Given the description of an element on the screen output the (x, y) to click on. 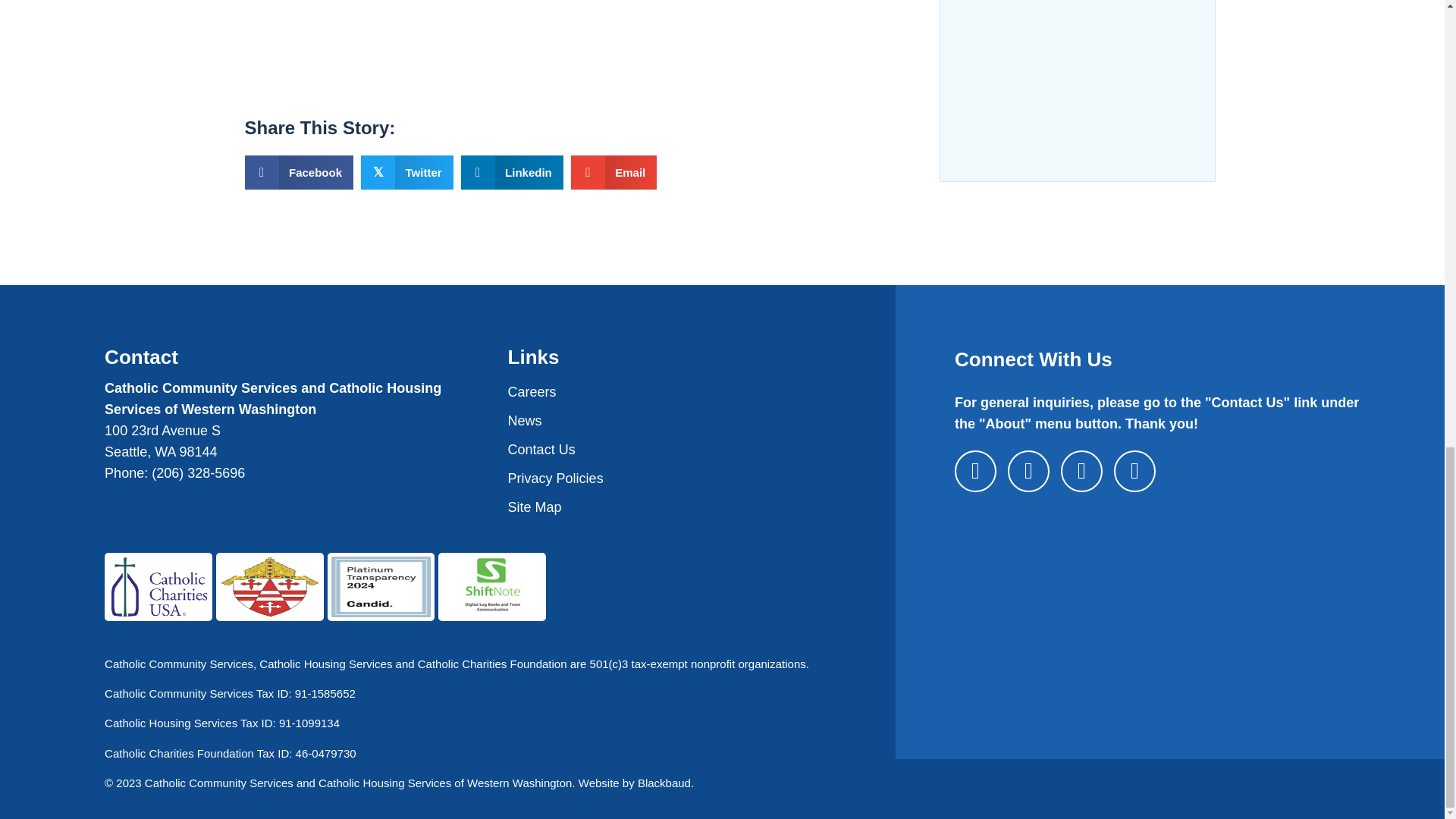
Facebook (298, 172)
Email (614, 172)
Linkedin (512, 172)
